Given the description of an element on the screen output the (x, y) to click on. 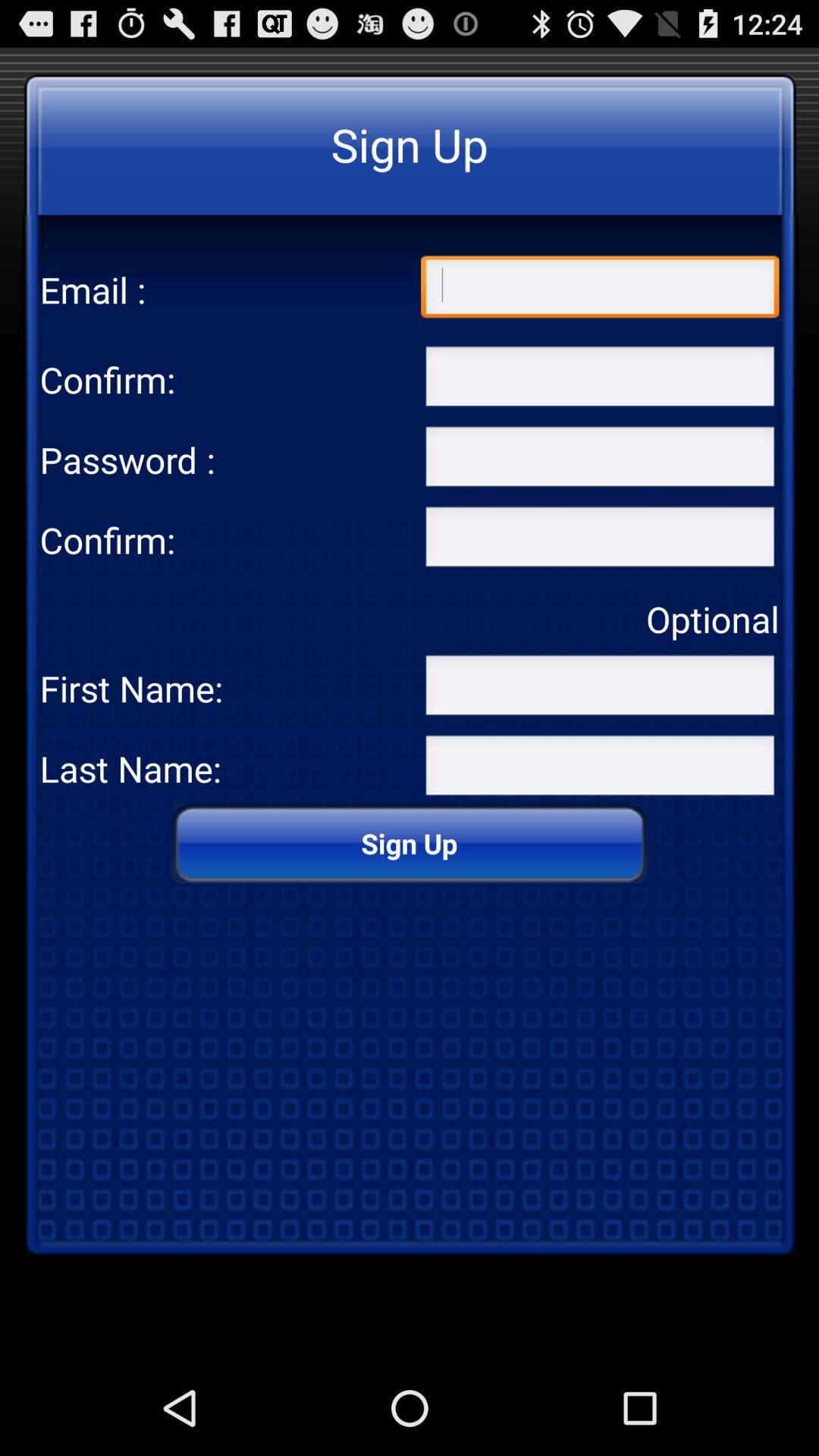
email (599, 289)
